Given the description of an element on the screen output the (x, y) to click on. 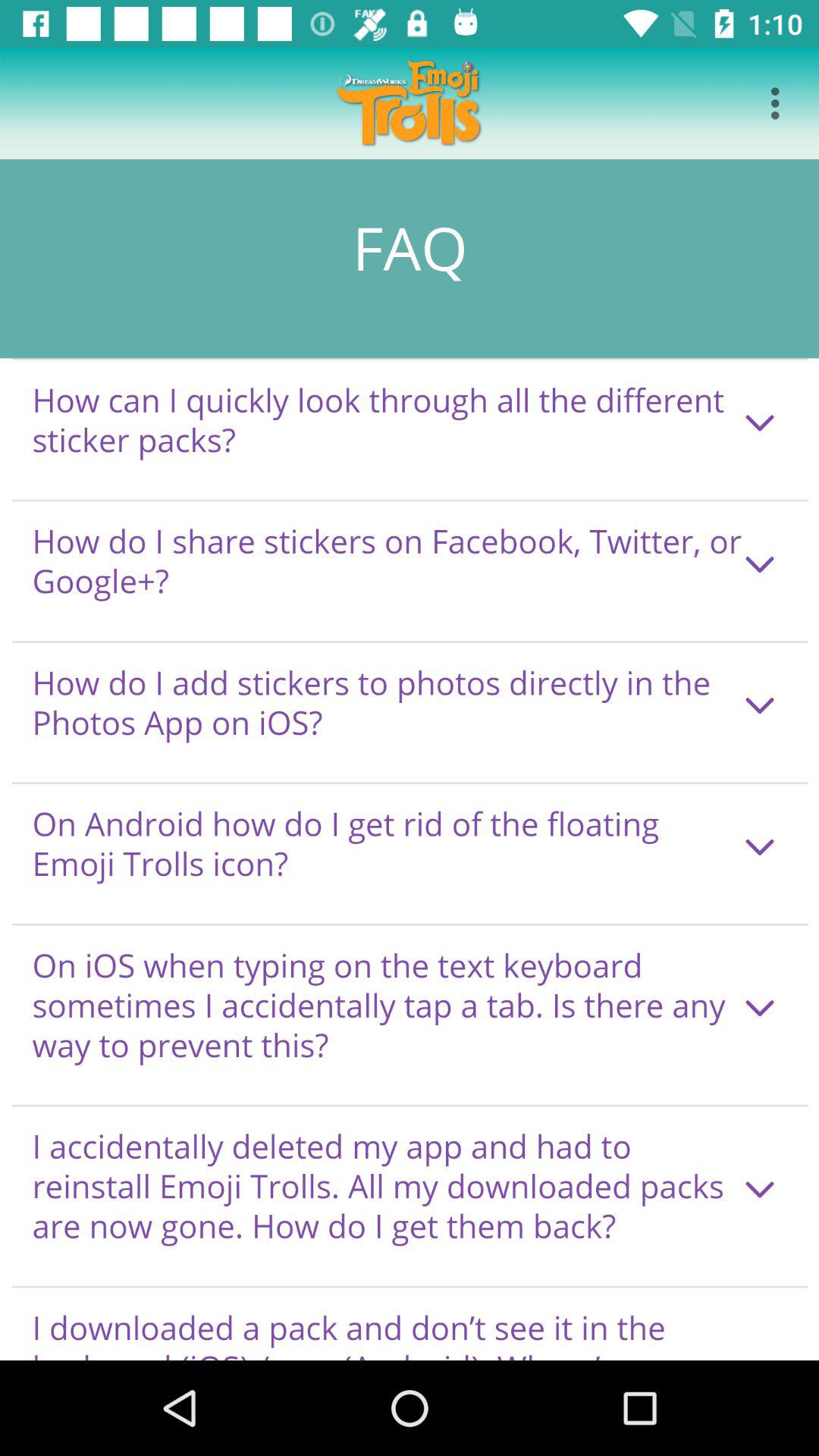
seeing in the paragraph (409, 759)
